Given the description of an element on the screen output the (x, y) to click on. 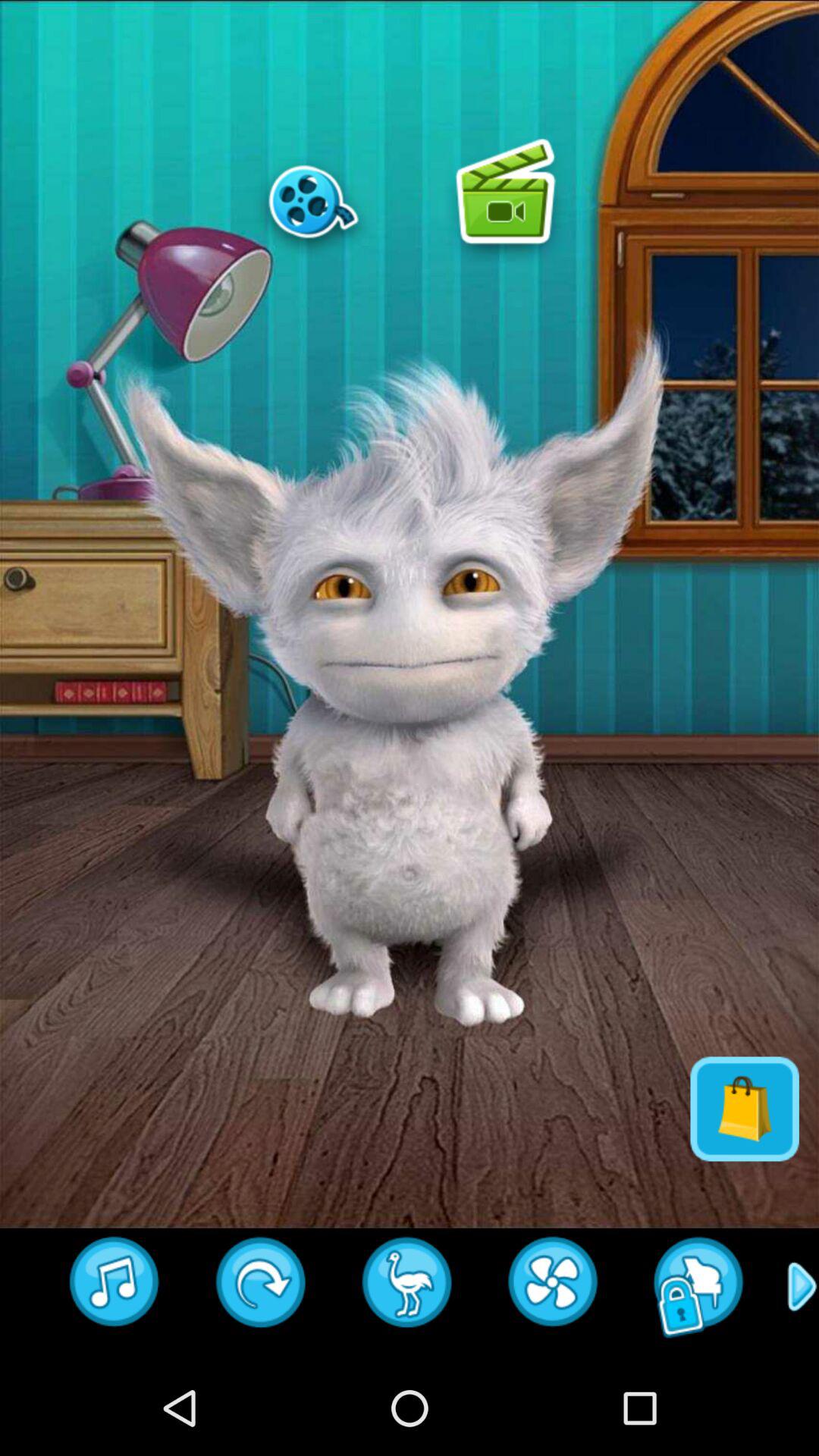
watch movie (313, 200)
